Given the description of an element on the screen output the (x, y) to click on. 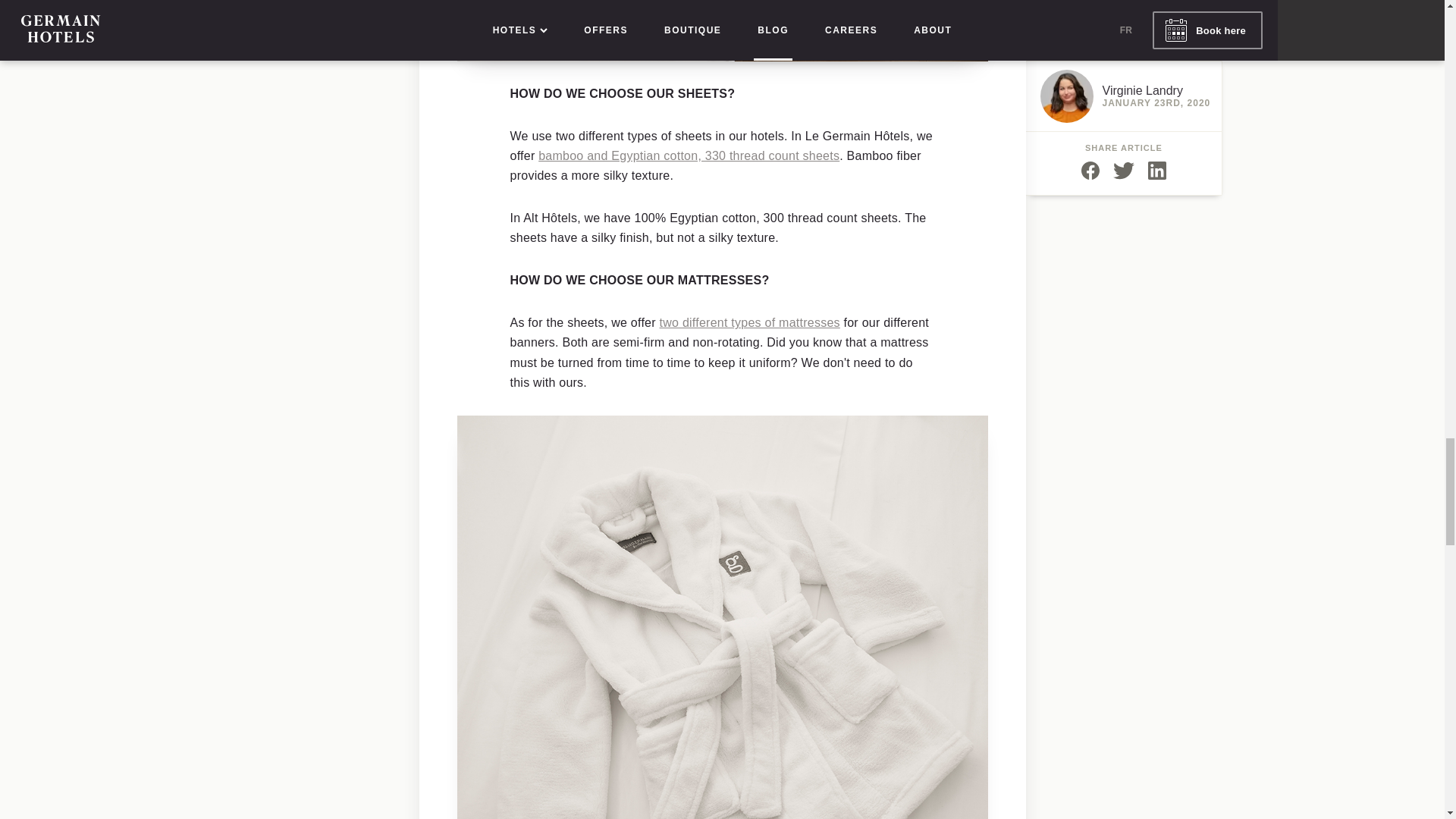
Literie Laurier Le Germain (749, 322)
bamboo and Egyptian cotton, 330 thread count sheets (689, 155)
Le Germain sheets (689, 155)
two different types of mattresses (749, 322)
